Given the description of an element on the screen output the (x, y) to click on. 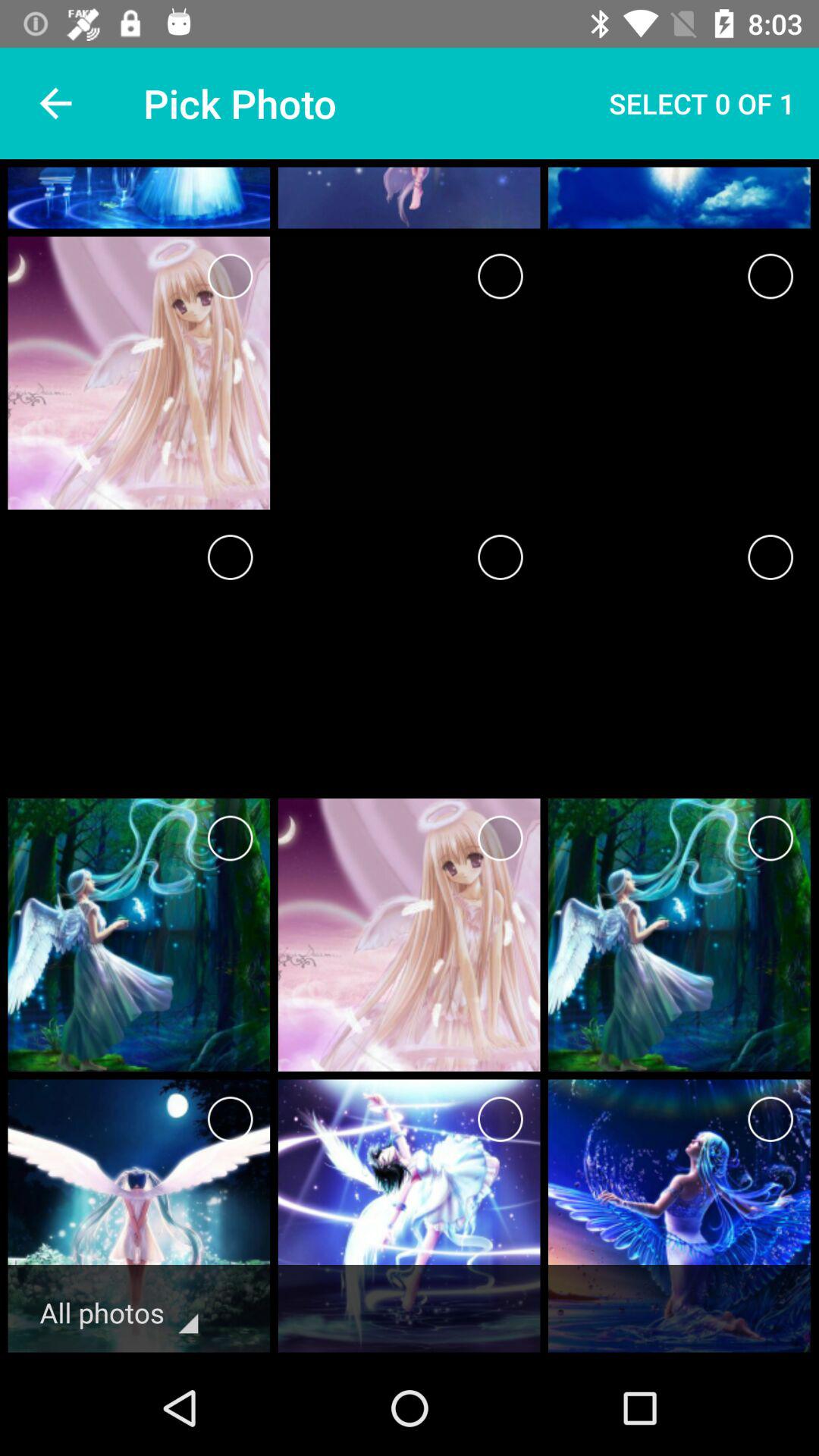
select a photo (770, 1119)
